Given the description of an element on the screen output the (x, y) to click on. 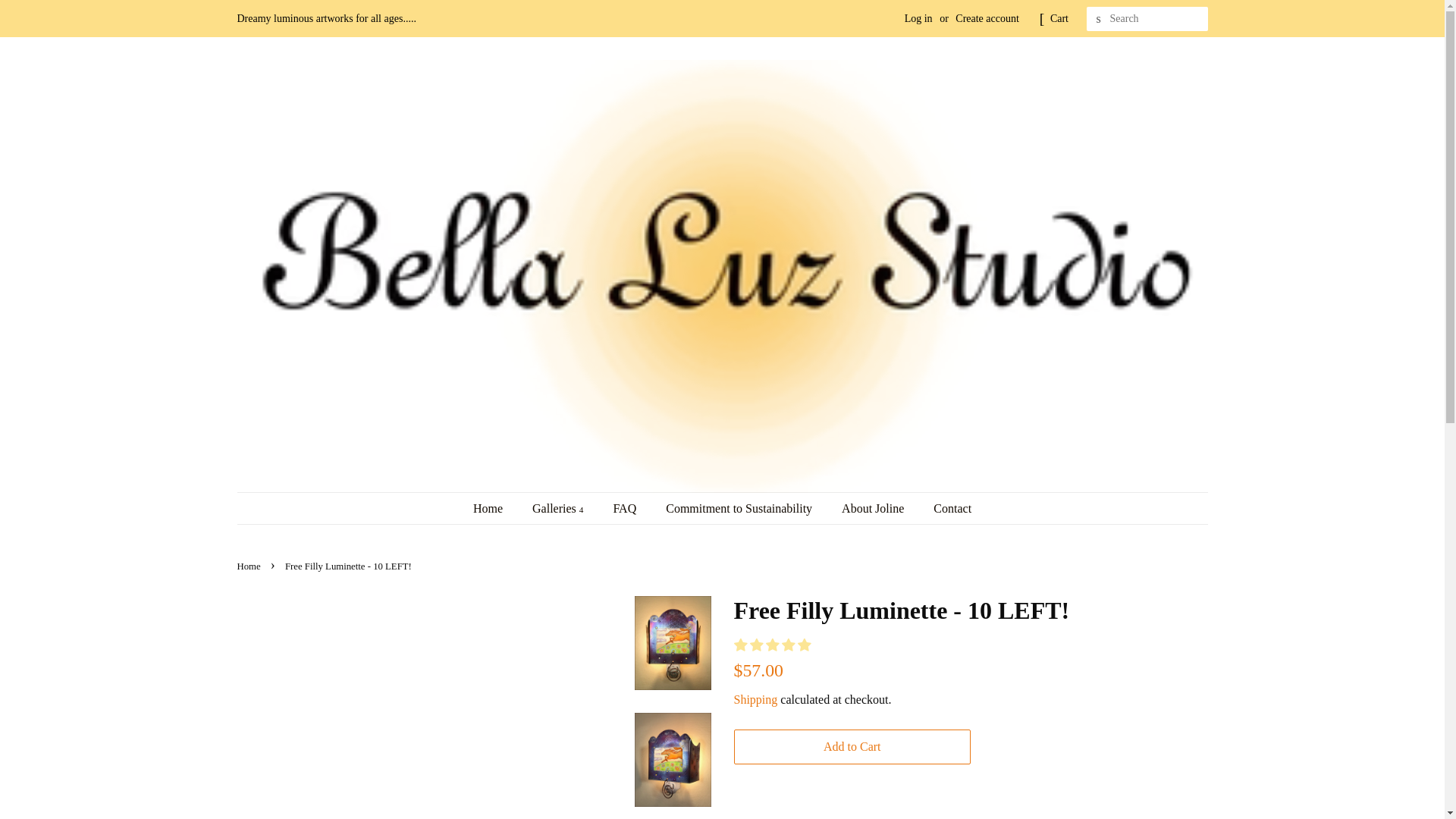
Home (495, 508)
Galleries (559, 508)
Log in (918, 18)
Create account (987, 18)
Back to the frontpage (249, 566)
Cart (1058, 18)
Search (1097, 18)
